Given the description of an element on the screen output the (x, y) to click on. 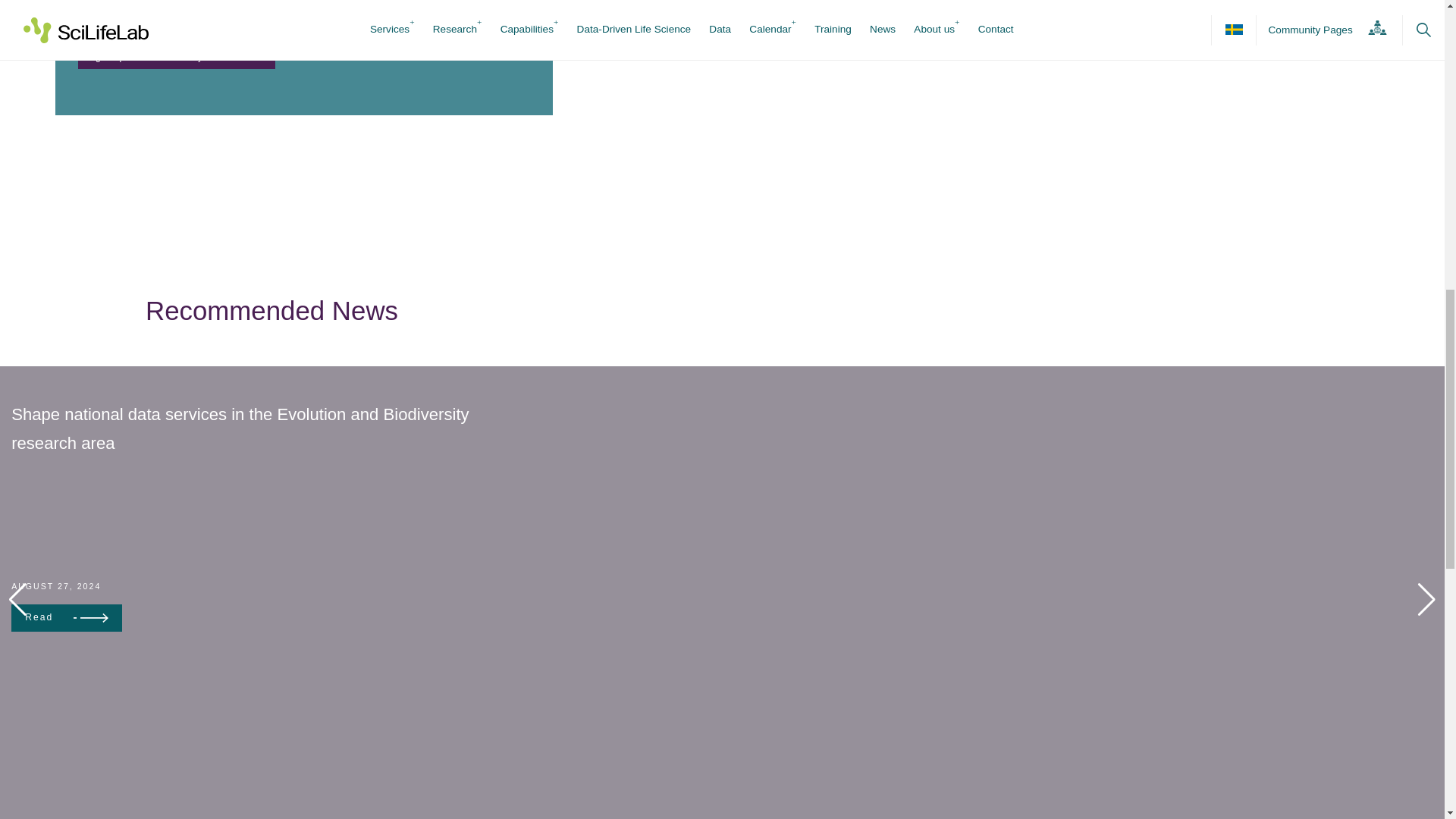
2605523 (85, 17)
2605548 (85, 2)
Sign up to our weekly newsletter! (176, 56)
Sign up to our weekly newsletter! (176, 56)
